Given the description of an element on the screen output the (x, y) to click on. 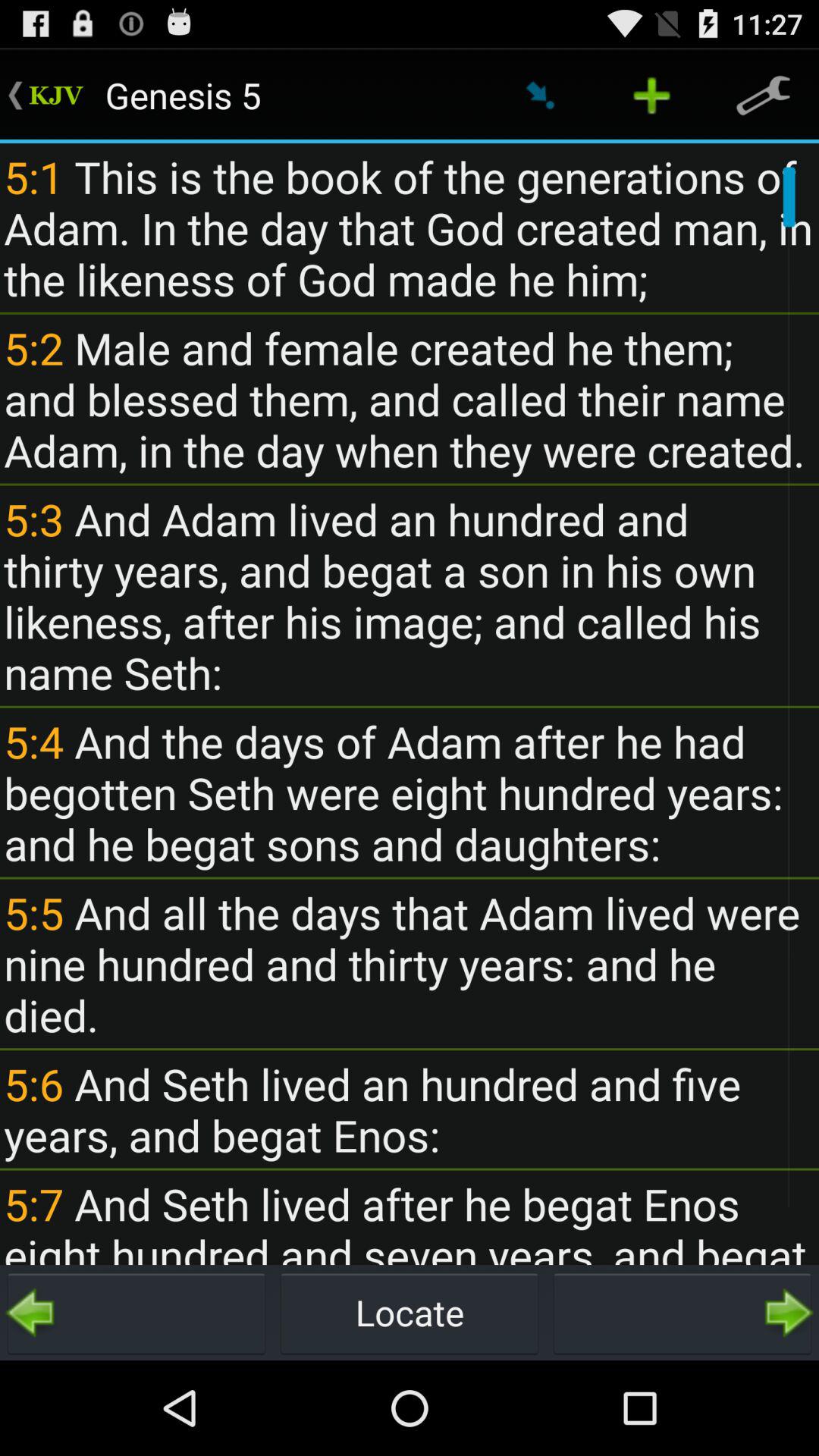
go to next page (682, 1312)
